Given the description of an element on the screen output the (x, y) to click on. 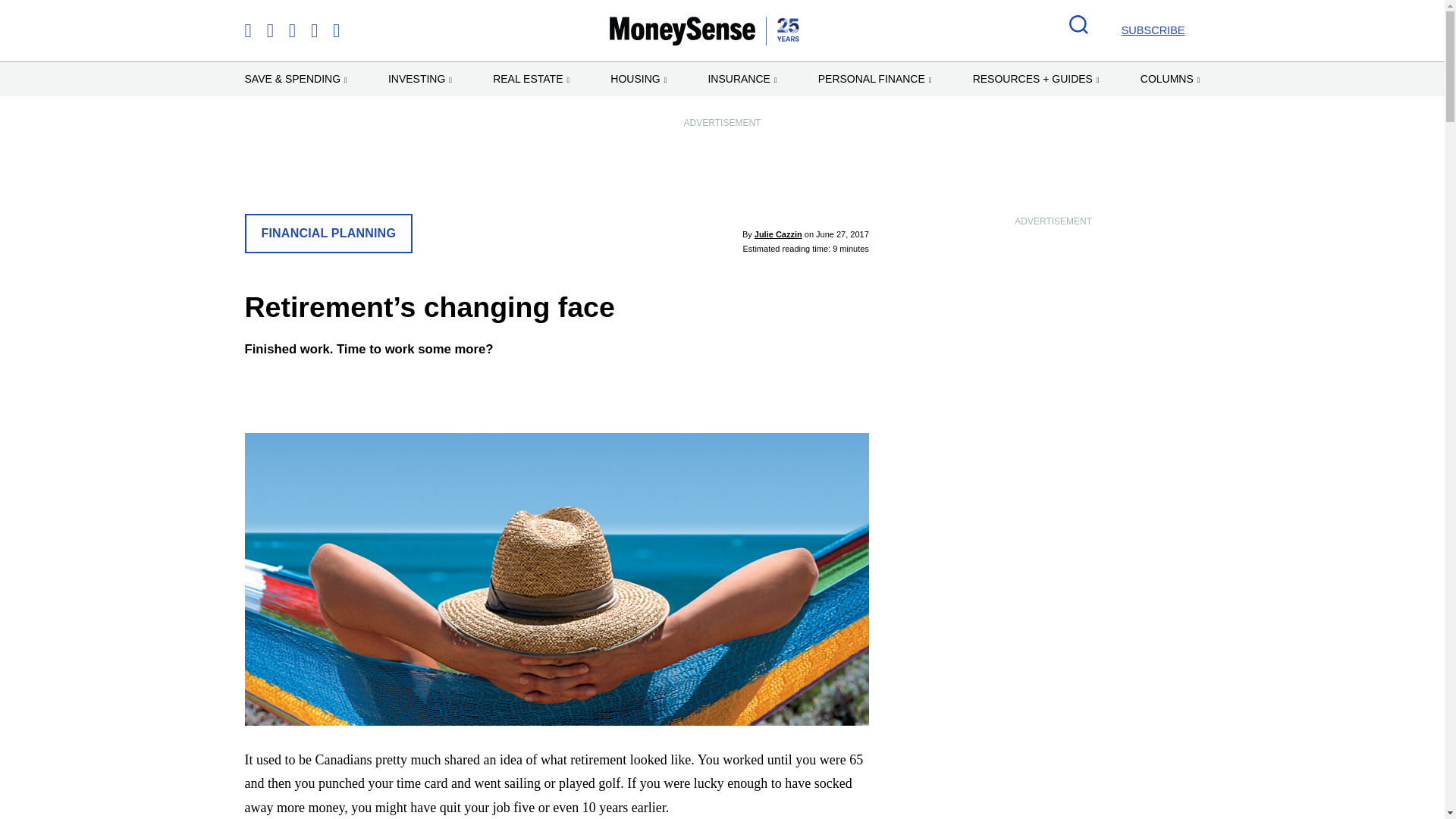
Posts by Julie Cazzin (778, 234)
INVESTING (419, 79)
SUBSCRIBE (1152, 30)
